Given the description of an element on the screen output the (x, y) to click on. 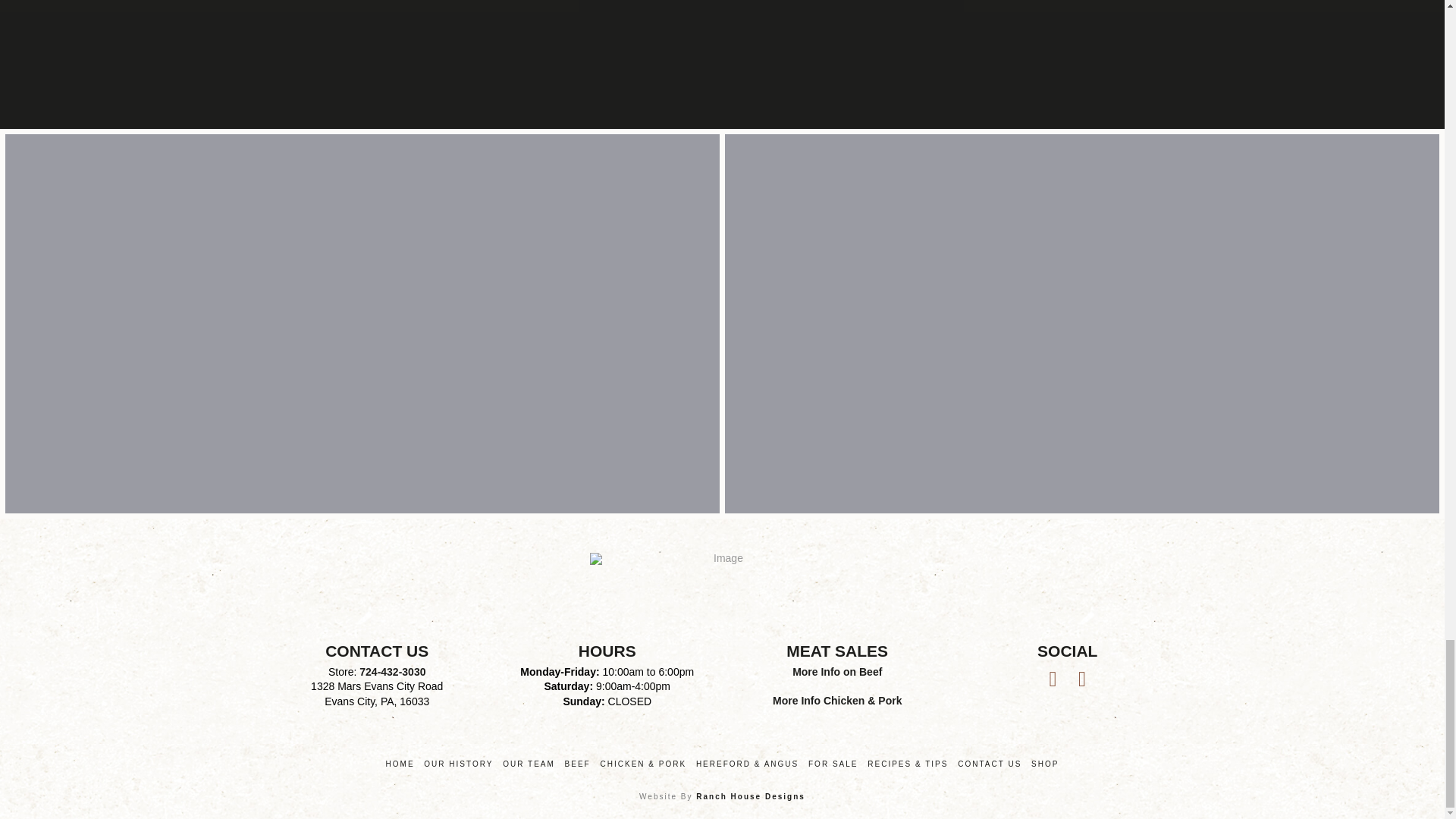
BEEF (577, 764)
Ranch House Designs (750, 796)
HOME (399, 764)
724-432-3030 (392, 671)
OUR HISTORY (458, 764)
OUR TEAM (528, 764)
More Info on Beef (837, 671)
FOR SALE (832, 764)
